Given the description of an element on the screen output the (x, y) to click on. 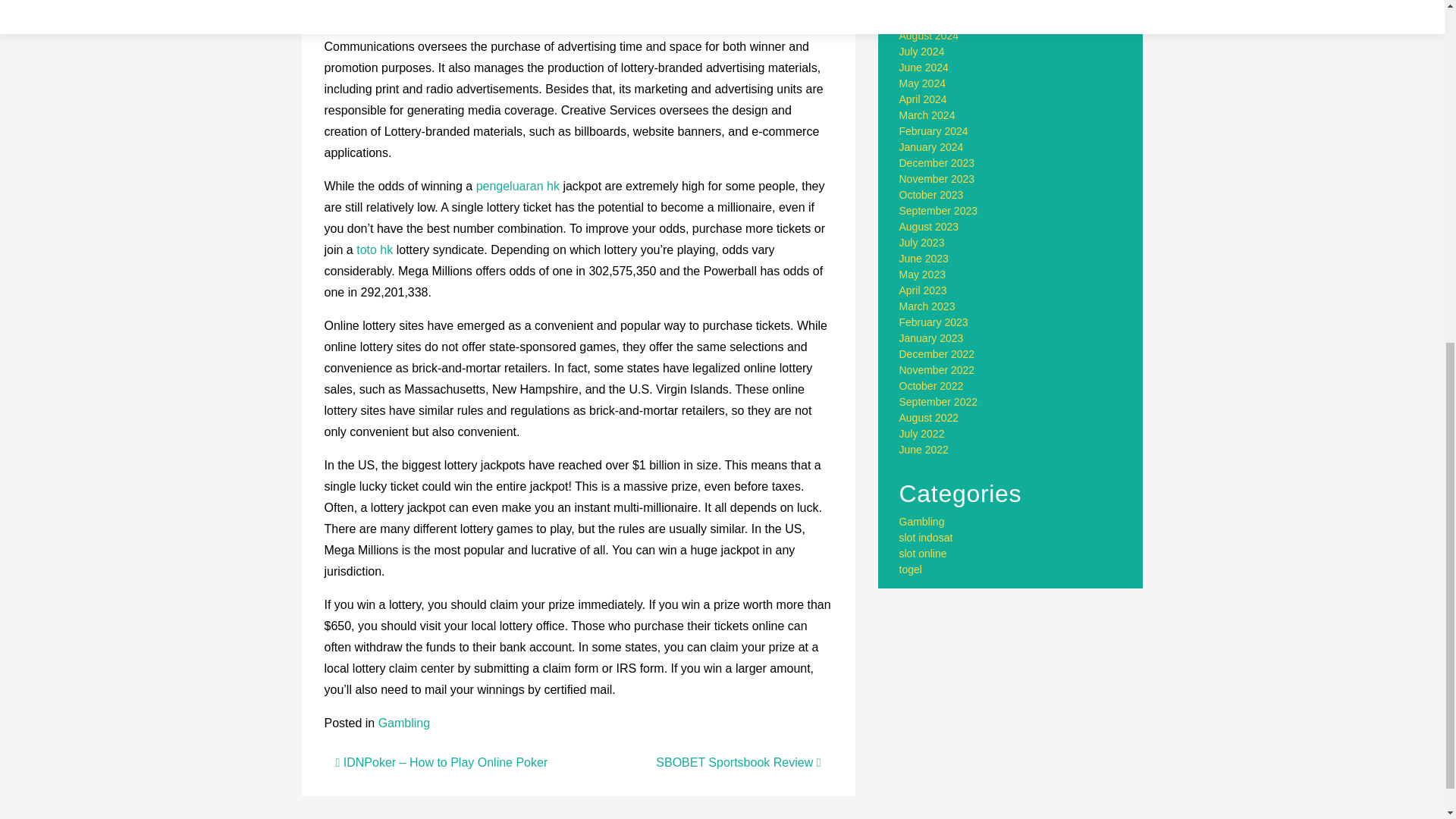
March 2024 (927, 114)
Gambling (403, 722)
November 2022 (937, 369)
July 2024 (921, 51)
February 2023 (933, 322)
October 2023 (931, 194)
June 2023 (924, 258)
April 2024 (923, 99)
September 2023 (938, 210)
December 2023 (937, 162)
